Given the description of an element on the screen output the (x, y) to click on. 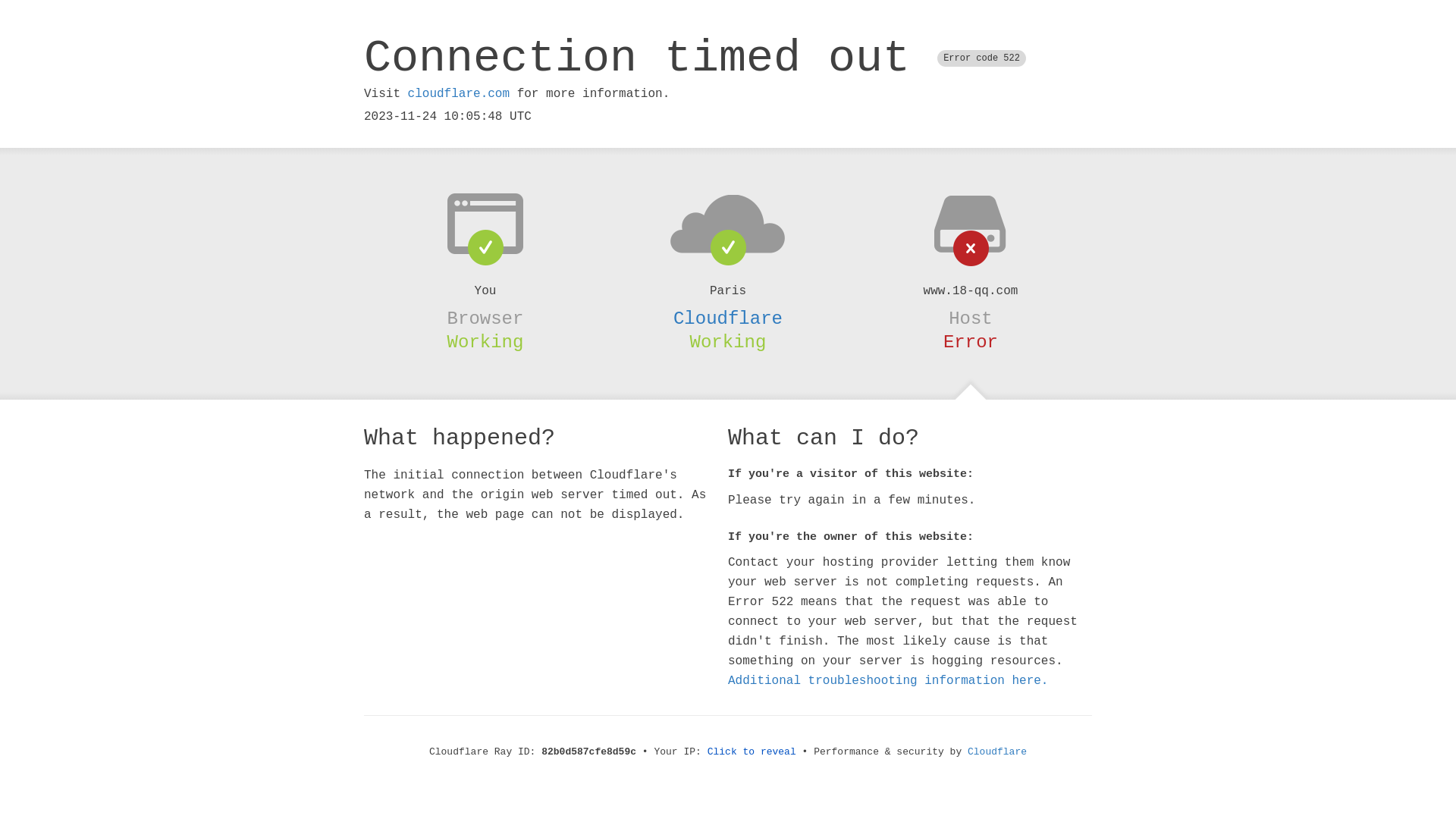
Click to reveal Element type: text (751, 751)
Cloudflare Element type: text (996, 751)
cloudflare.com Element type: text (458, 93)
Additional troubleshooting information here. Element type: text (888, 680)
Cloudflare Element type: text (727, 318)
